Given the description of an element on the screen output the (x, y) to click on. 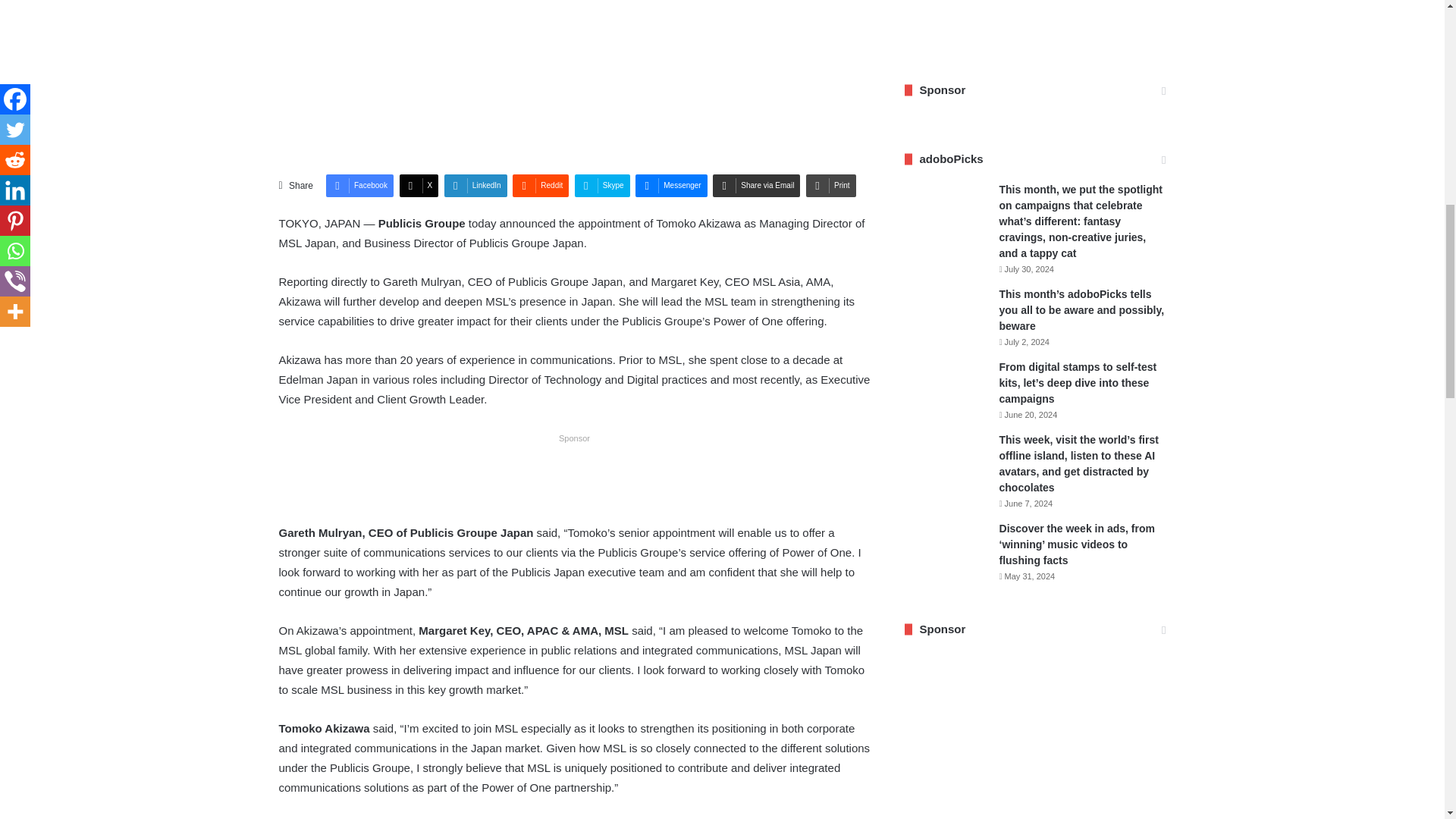
Messenger (670, 185)
Reddit (540, 185)
X (418, 185)
LinkedIn (475, 185)
Skype (602, 185)
Share via Email (756, 185)
Facebook (359, 185)
